Given the description of an element on the screen output the (x, y) to click on. 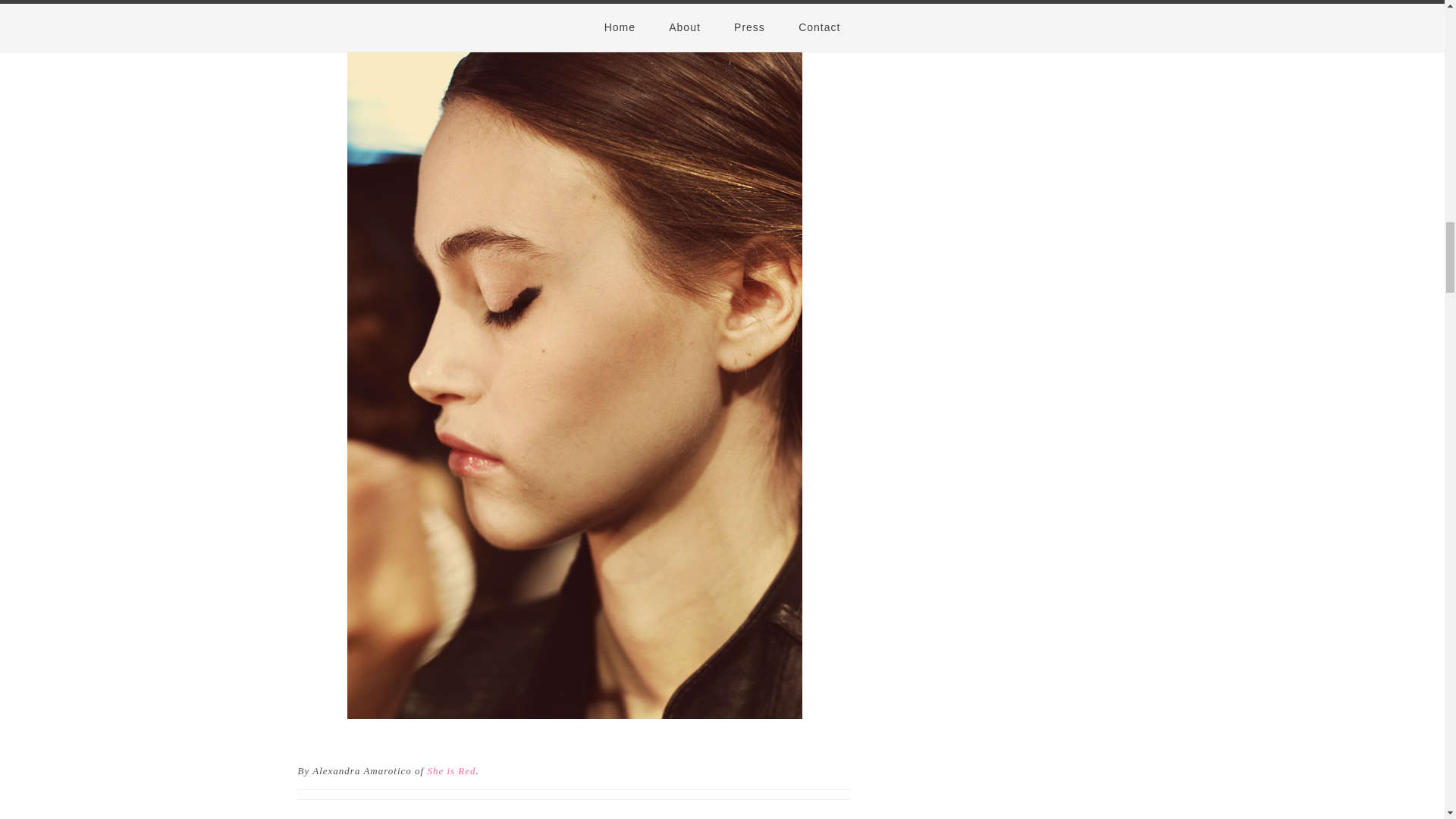
She is Red (451, 769)
She is Red (451, 769)
